Given the description of an element on the screen output the (x, y) to click on. 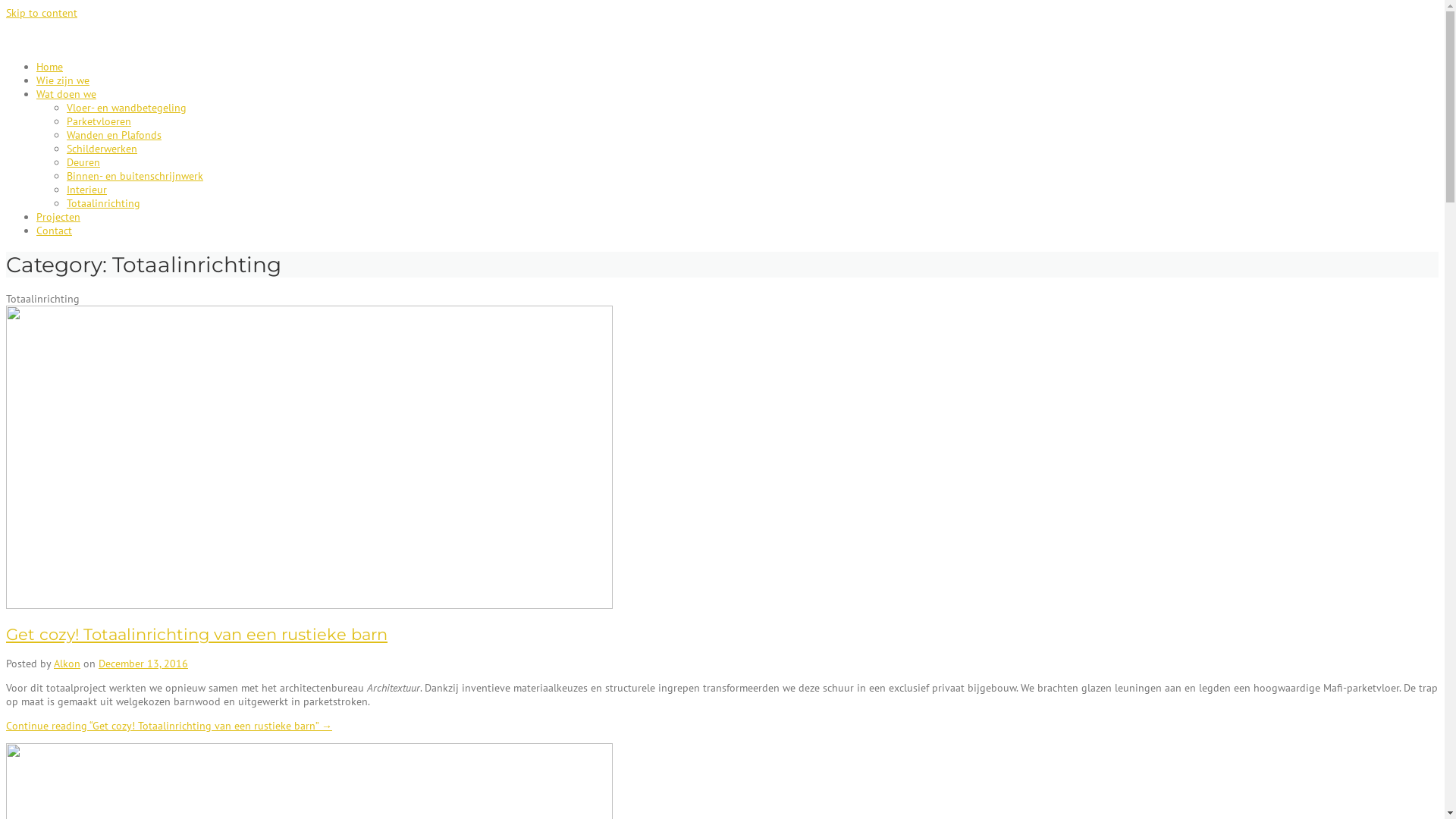
Wat doen we Element type: text (66, 93)
Get cozy! Totaalinrichting van een rustieke barn Element type: text (196, 633)
Wanden en Plafonds Element type: text (113, 134)
Parketvloeren Element type: text (98, 121)
Schilderwerken Element type: text (101, 148)
Alkon Element type: text (66, 663)
Projecten Element type: text (58, 216)
Binnen- en buitenschrijnwerk Element type: text (134, 175)
Home Element type: text (49, 66)
Deuren Element type: text (83, 162)
December 13, 2016 Element type: text (143, 663)
Totaalinrichting Element type: text (103, 203)
Interieur Element type: text (86, 189)
Vloer- en wandbetegeling Element type: text (126, 107)
Contact Element type: text (54, 230)
Skip to content Element type: text (41, 12)
Wie zijn we Element type: text (62, 80)
